Given the description of an element on the screen output the (x, y) to click on. 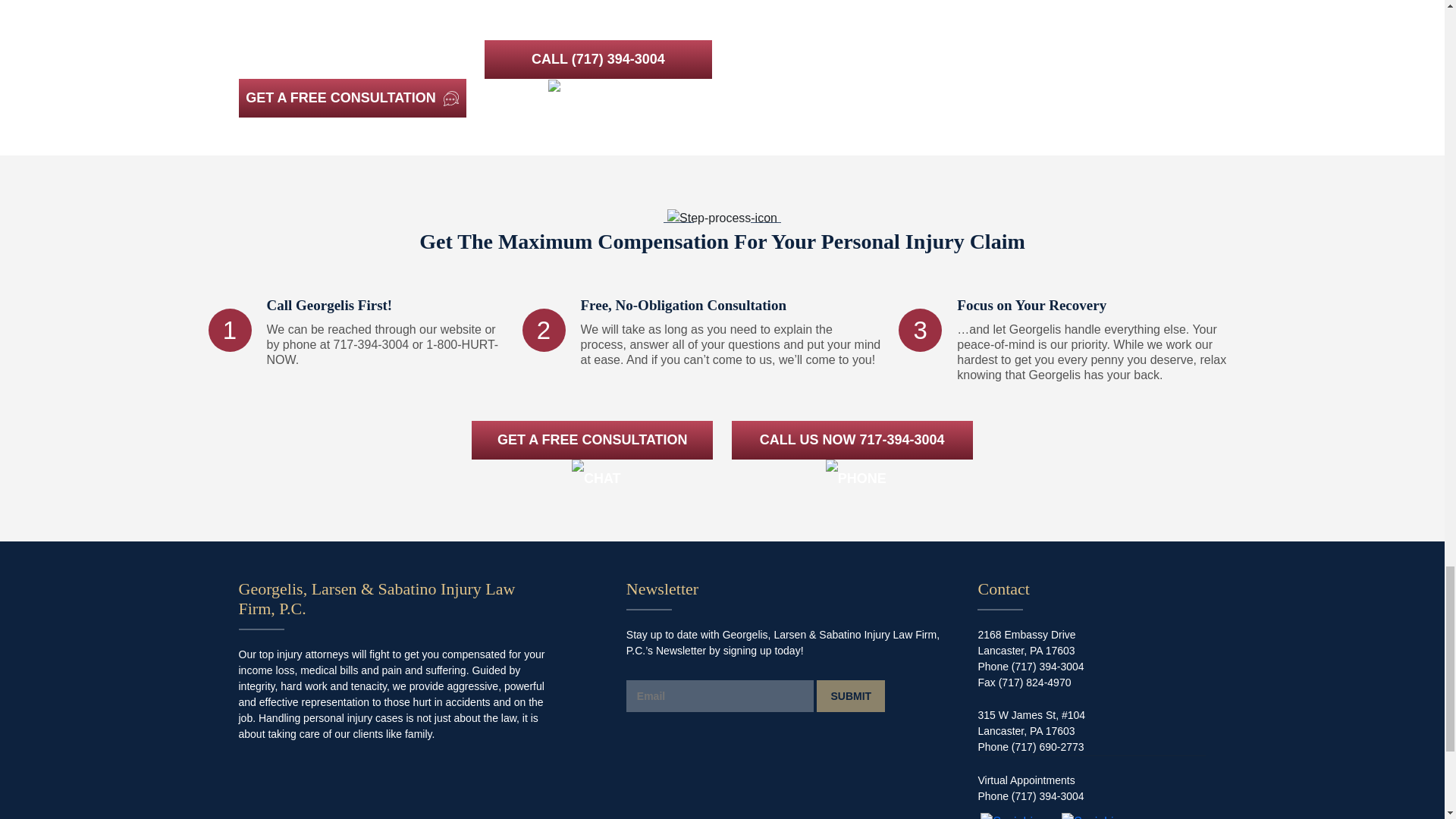
Submit (850, 695)
